Given the description of an element on the screen output the (x, y) to click on. 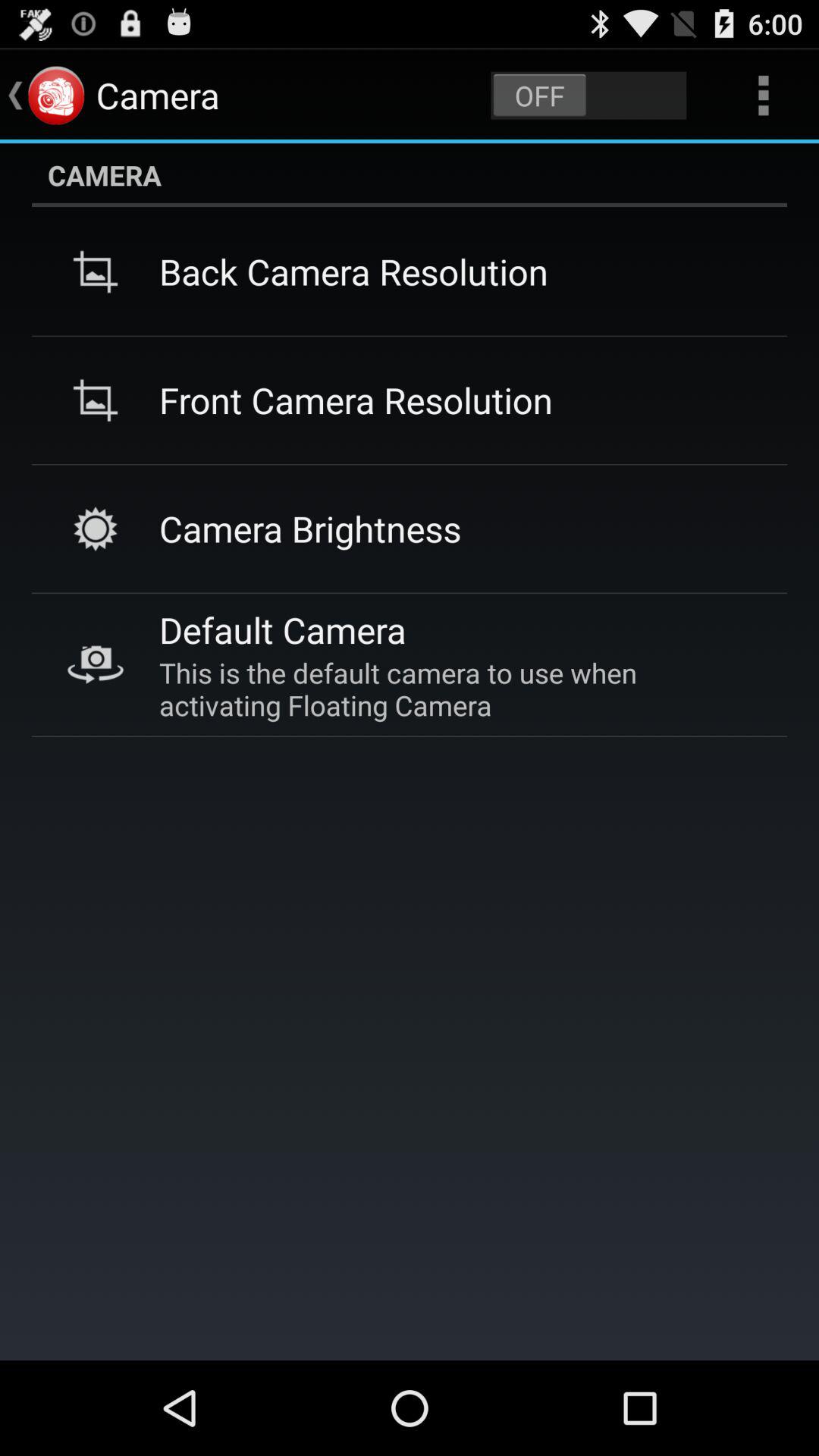
swipe to this is the app (455, 689)
